Given the description of an element on the screen output the (x, y) to click on. 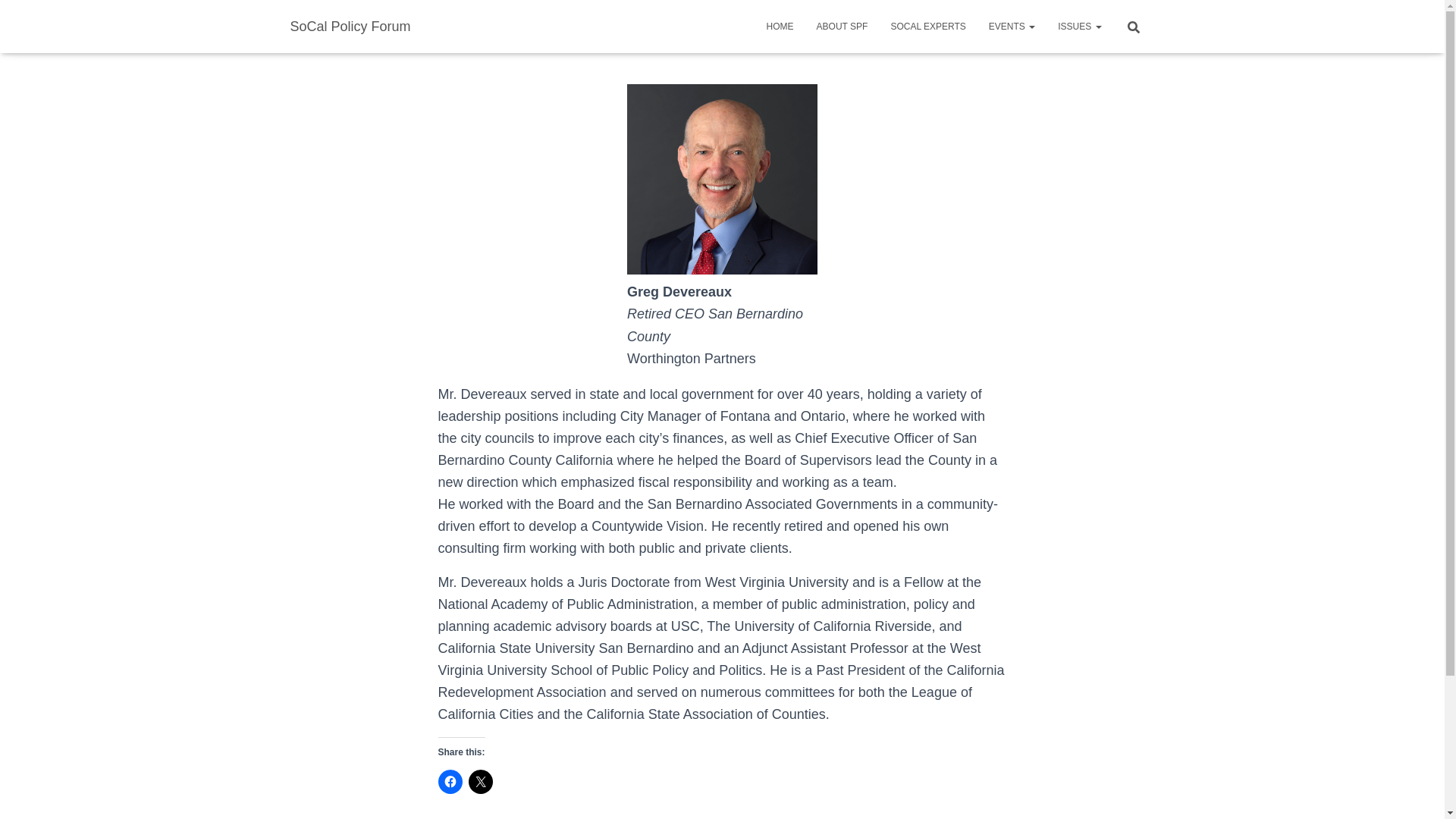
SOCAL EXPERTS (927, 26)
SoCal Policy Forum (350, 26)
EVENTS (1011, 26)
SoCal Experts (927, 26)
ABOUT SPF (842, 26)
ISSUES (1079, 26)
SoCal Policy Forum (350, 26)
Click to share on Facebook (450, 781)
Click to share on X (480, 781)
About SPF (842, 26)
Home (780, 26)
Events (1011, 26)
Issues (1079, 26)
HOME (780, 26)
